Given the description of an element on the screen output the (x, y) to click on. 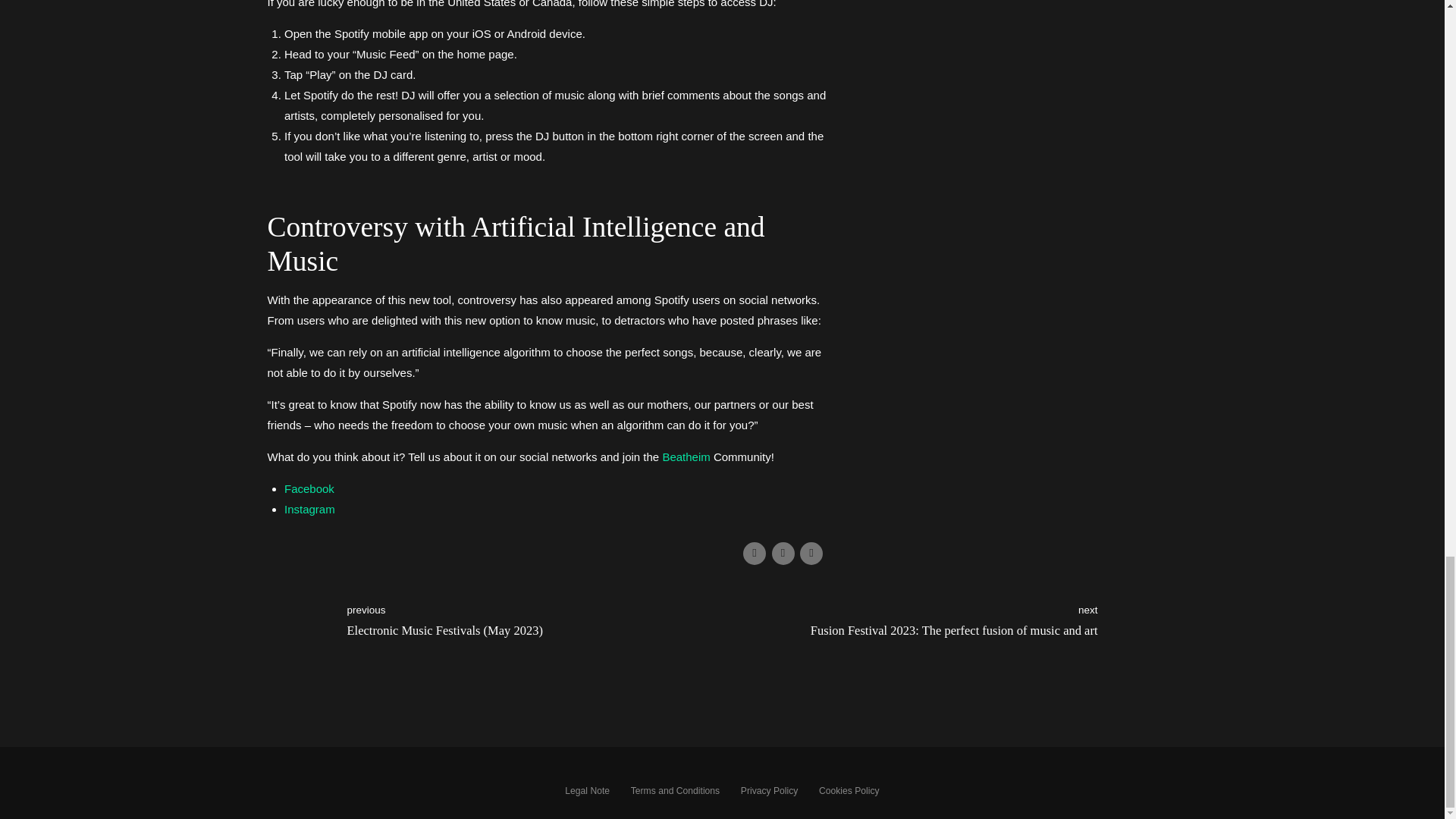
Share on Facebook (753, 553)
Share on Twitter (782, 553)
Share on Linkedin (810, 553)
